Given the description of an element on the screen output the (x, y) to click on. 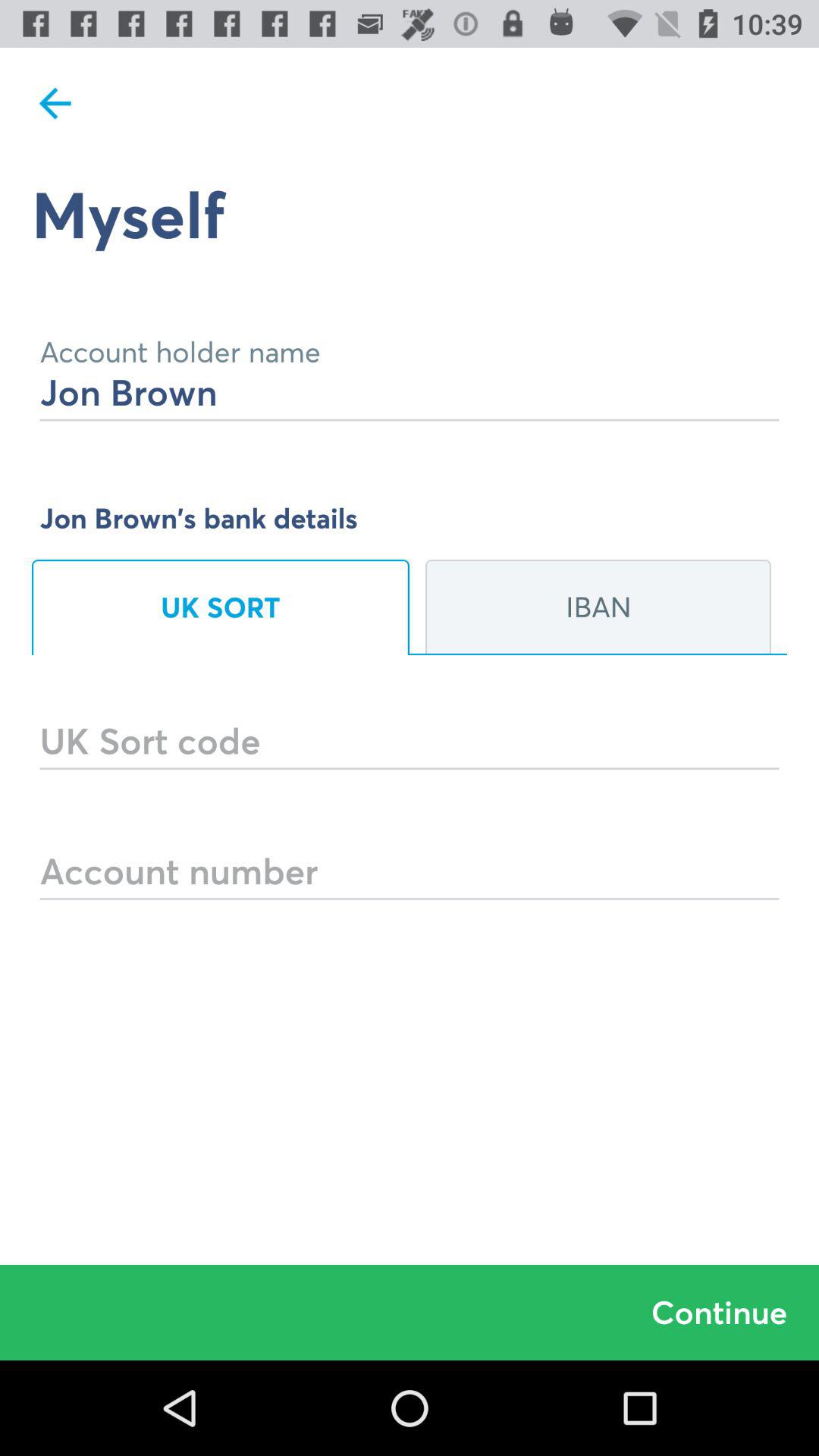
press the icon above the myself icon (55, 103)
